Given the description of an element on the screen output the (x, y) to click on. 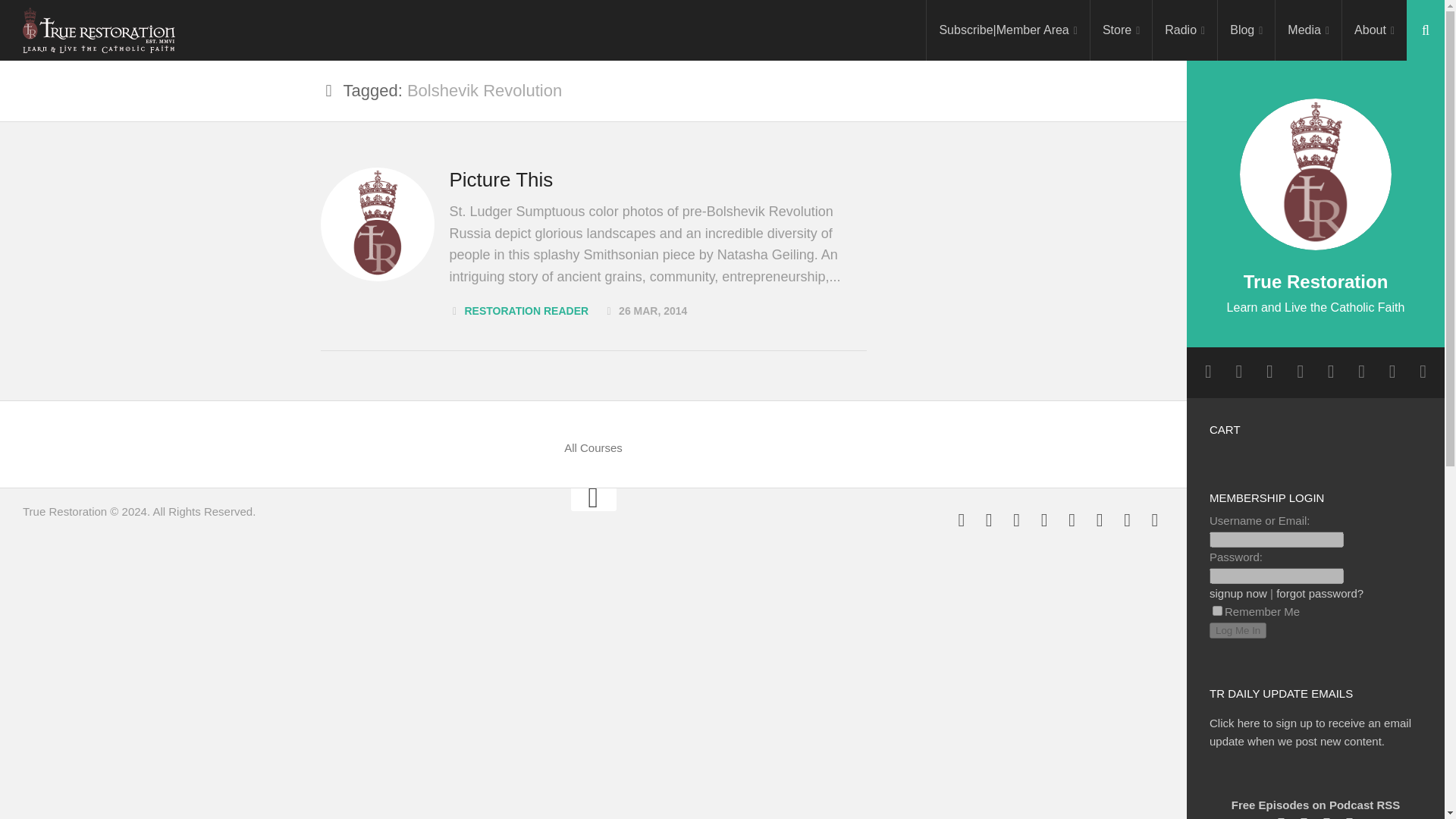
Media (1307, 30)
Log Me In (1237, 630)
Facebook (1207, 371)
Blog (1246, 30)
YouTube (1043, 520)
Twitter (1016, 520)
Radio (1185, 30)
Picture This (500, 179)
Instagram (1238, 371)
RSS Article Feed (1071, 520)
Twitter (1269, 371)
iTunes - Free Episodes (1099, 520)
Picture This (376, 224)
Facebook (961, 520)
Store (1120, 30)
